Given the description of an element on the screen output the (x, y) to click on. 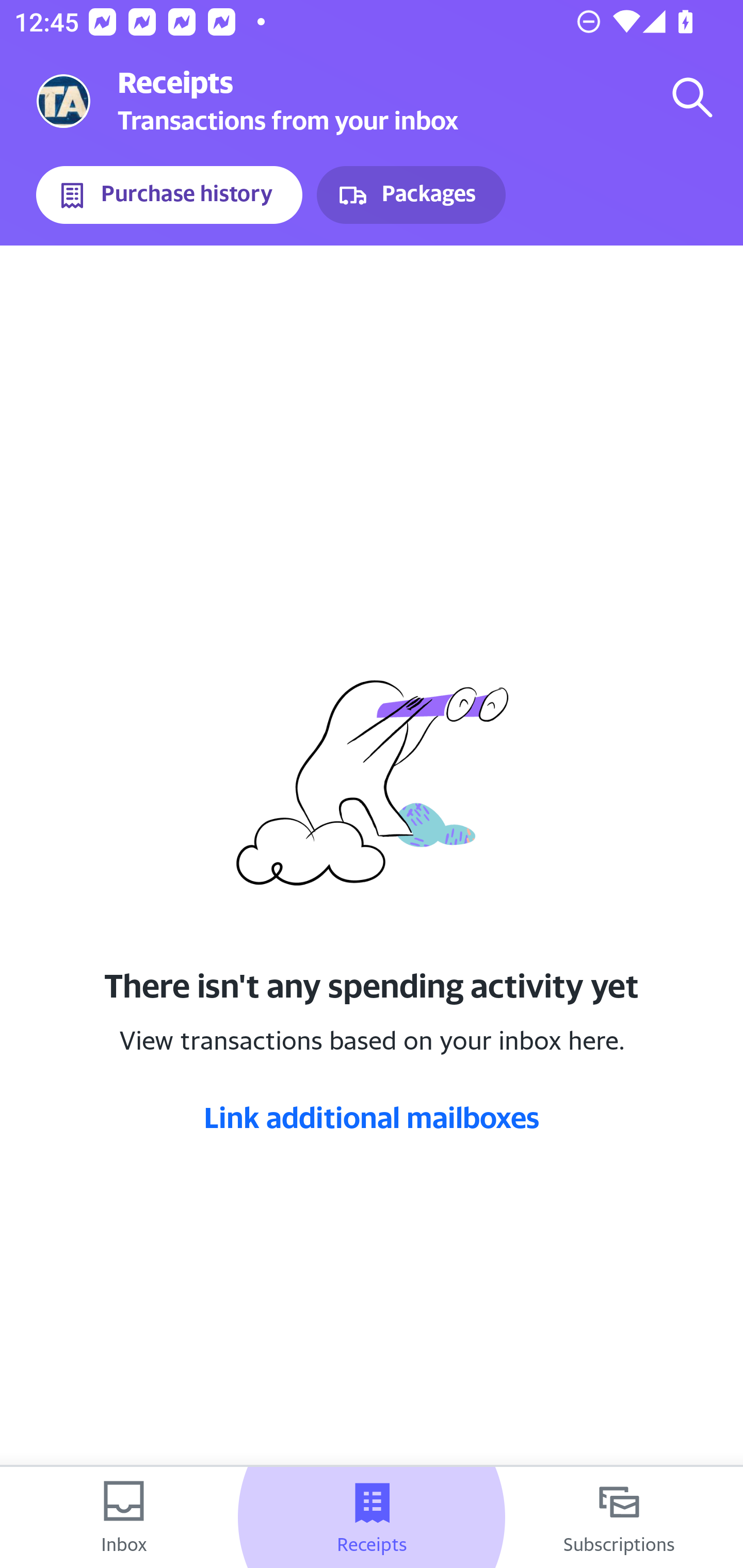
Search mail (692, 97)
Packages (410, 195)
Link additional mailboxes (371, 1117)
Inbox (123, 1517)
Receipts (371, 1517)
Subscriptions (619, 1517)
